Given the description of an element on the screen output the (x, y) to click on. 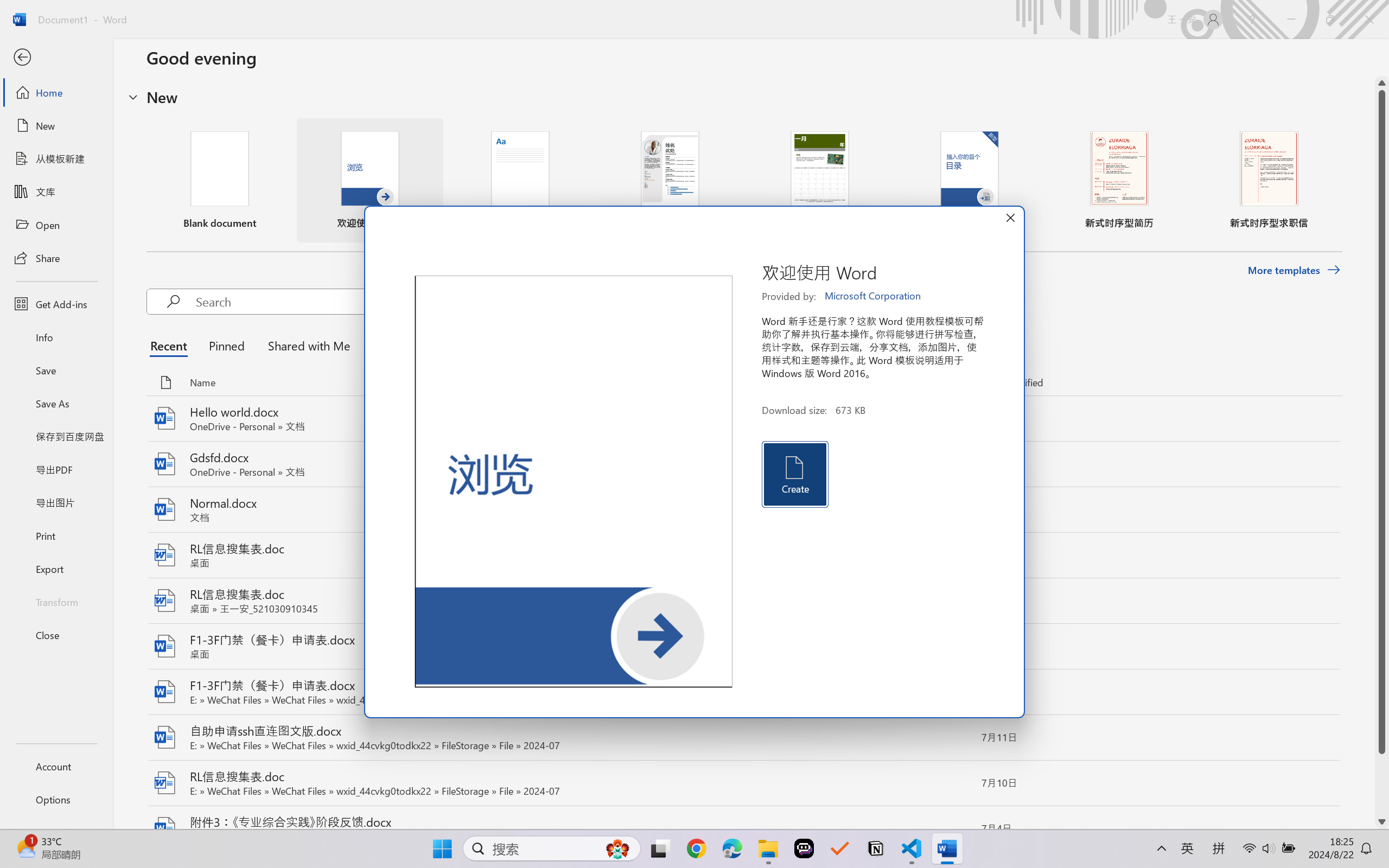
New (56, 125)
Back (56, 57)
Options (56, 798)
Preview (573, 481)
